Given the description of an element on the screen output the (x, y) to click on. 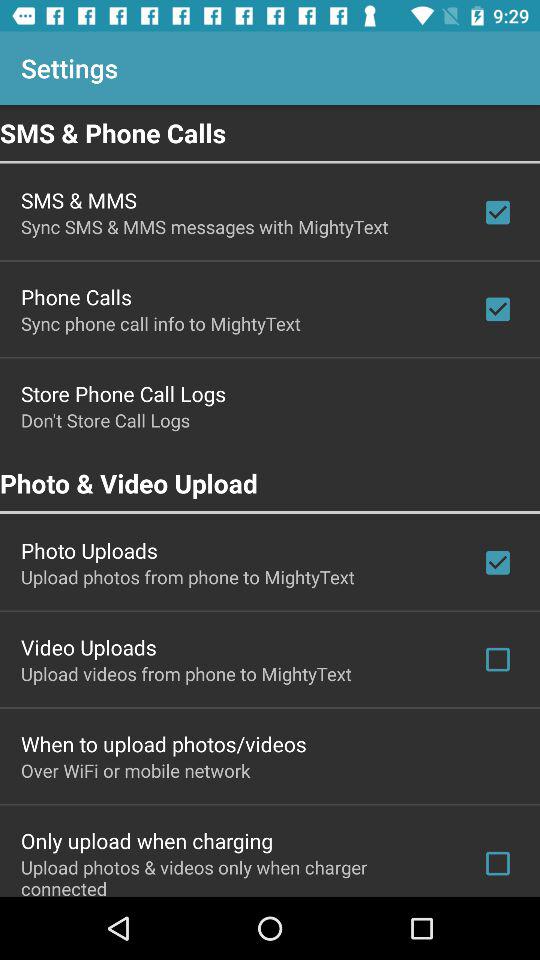
click the app above upload photos from item (89, 550)
